Given the description of an element on the screen output the (x, y) to click on. 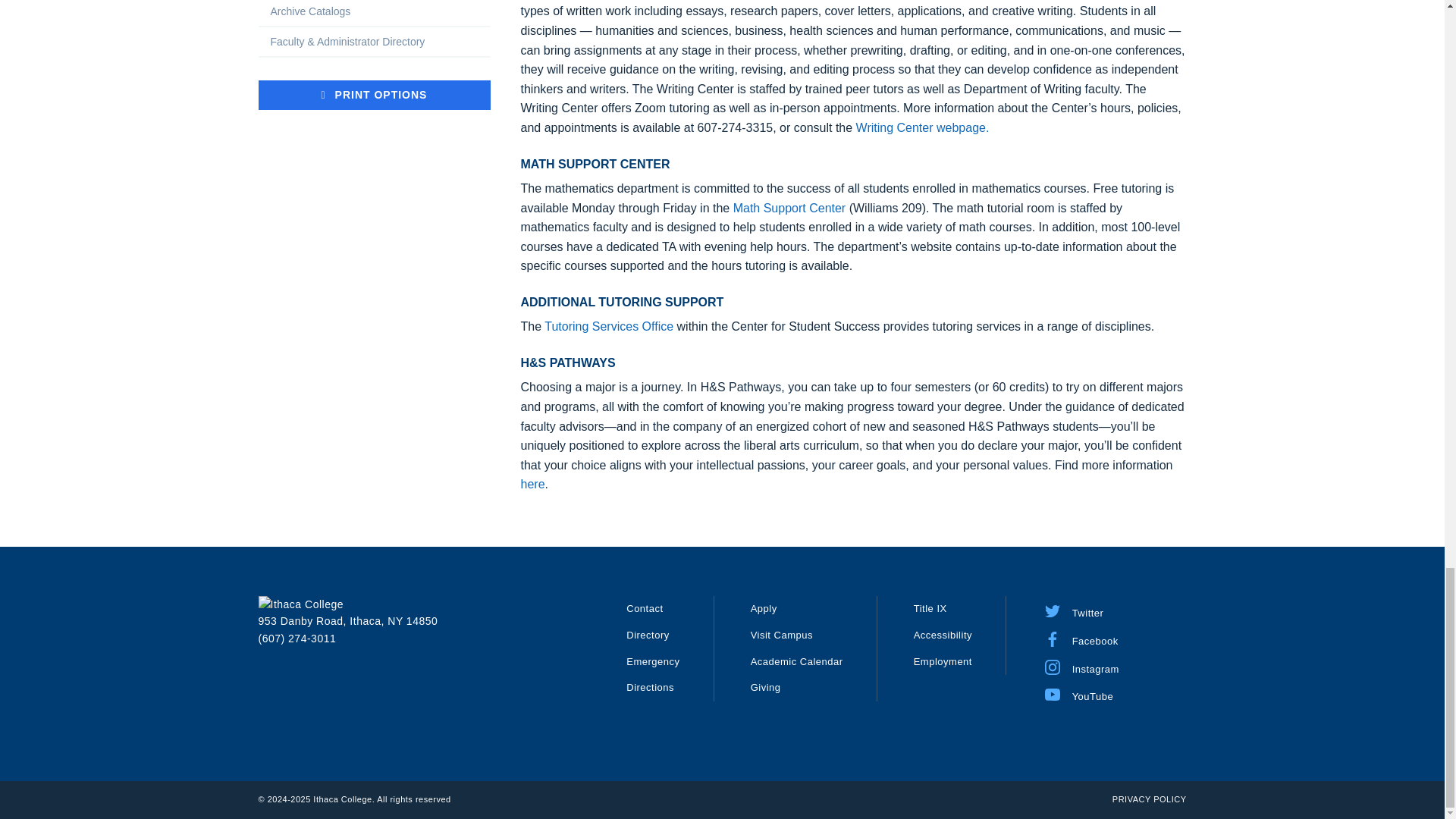
Opens in a new window (1073, 610)
istagram icon Created with Sketch. (1052, 667)
Opens in a new window (1081, 665)
facebook icon Created with Sketch. (1052, 639)
twitter icon Created with Sketch. (1052, 611)
Opens in a new window (1078, 693)
youtube icon Created with Sketch. (1052, 694)
Opens in a new window (1080, 637)
